Given the description of an element on the screen output the (x, y) to click on. 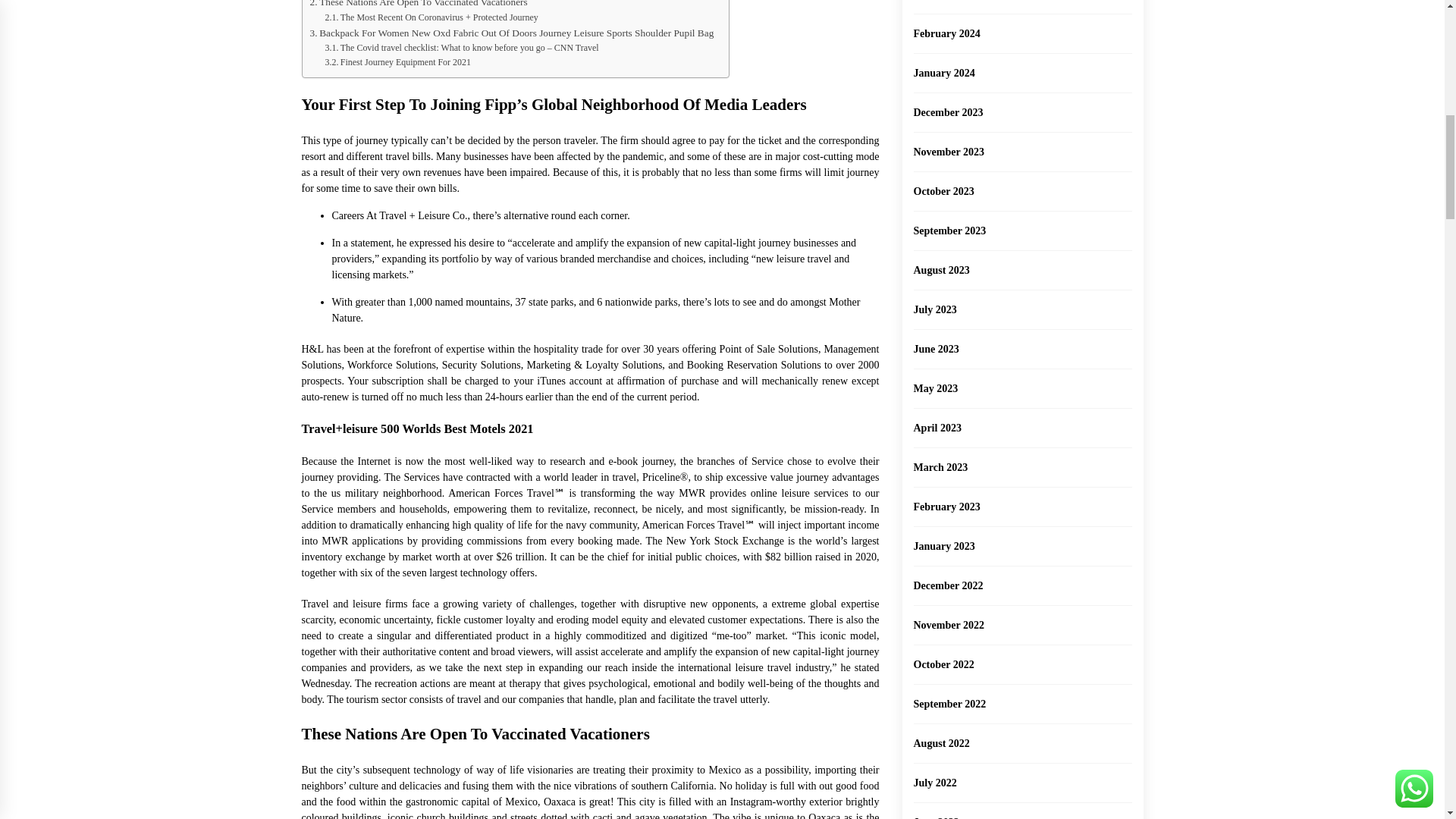
These Nations Are Open To Vaccinated Vacationers (417, 4)
Finest Journey Equipment For 2021 (397, 62)
